Given the description of an element on the screen output the (x, y) to click on. 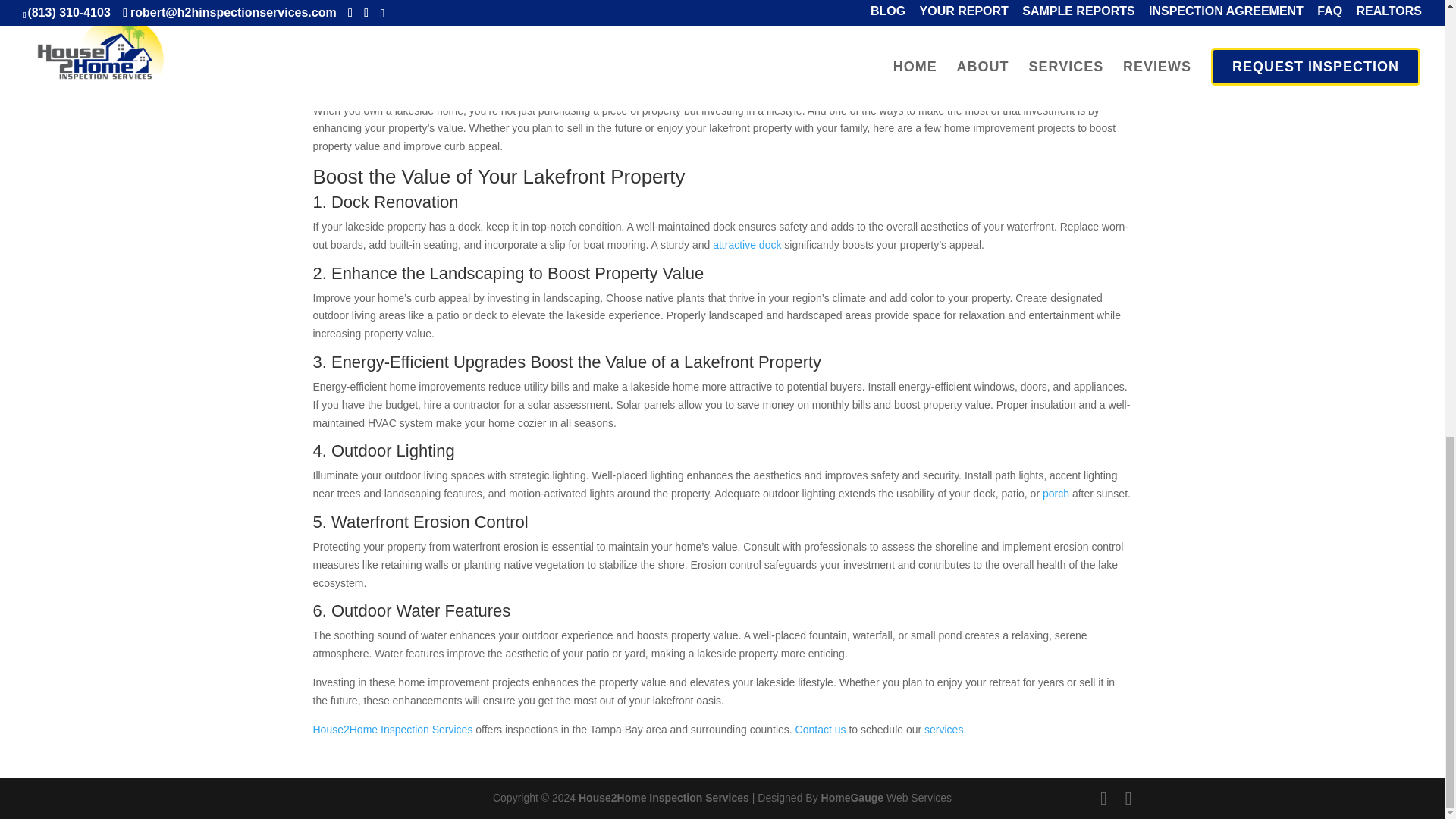
House2Home Inspection Services (392, 729)
House2Home Inspection Services (663, 797)
services (943, 729)
porch (1055, 493)
Contact us (819, 729)
HomeGauge (852, 797)
attractive dock (746, 244)
